Given the description of an element on the screen output the (x, y) to click on. 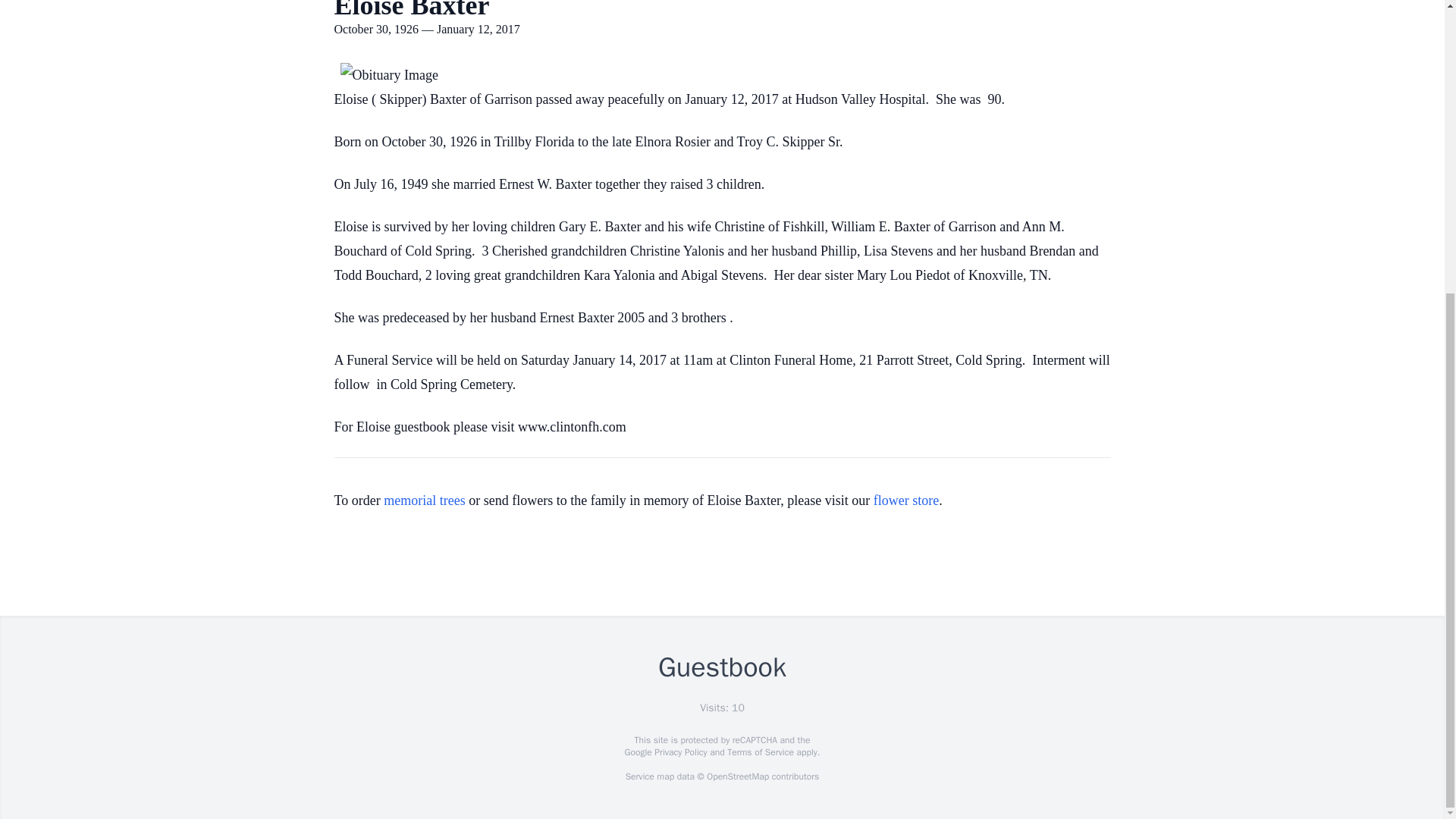
Terms of Service (759, 752)
Privacy Policy (679, 752)
OpenStreetMap (737, 776)
flower store (906, 500)
memorial trees (424, 500)
